Given the description of an element on the screen output the (x, y) to click on. 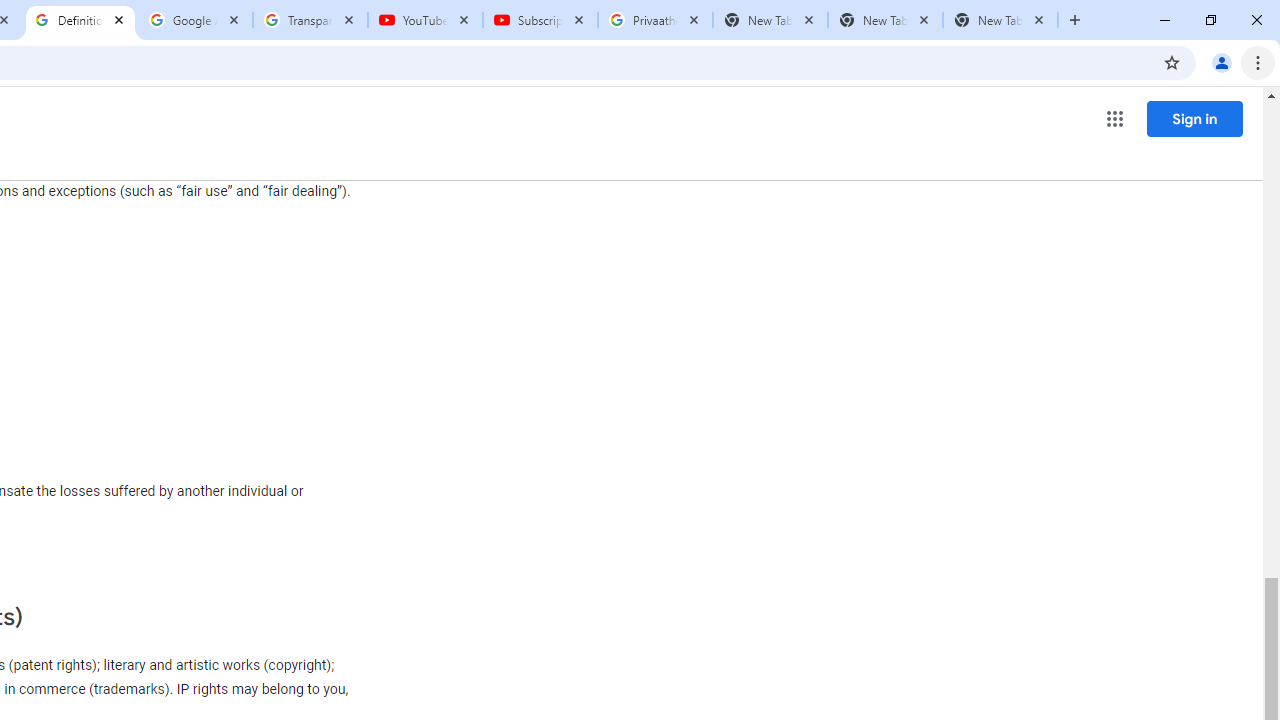
Sign in (1194, 118)
New Tab (1000, 20)
